Given the description of an element on the screen output the (x, y) to click on. 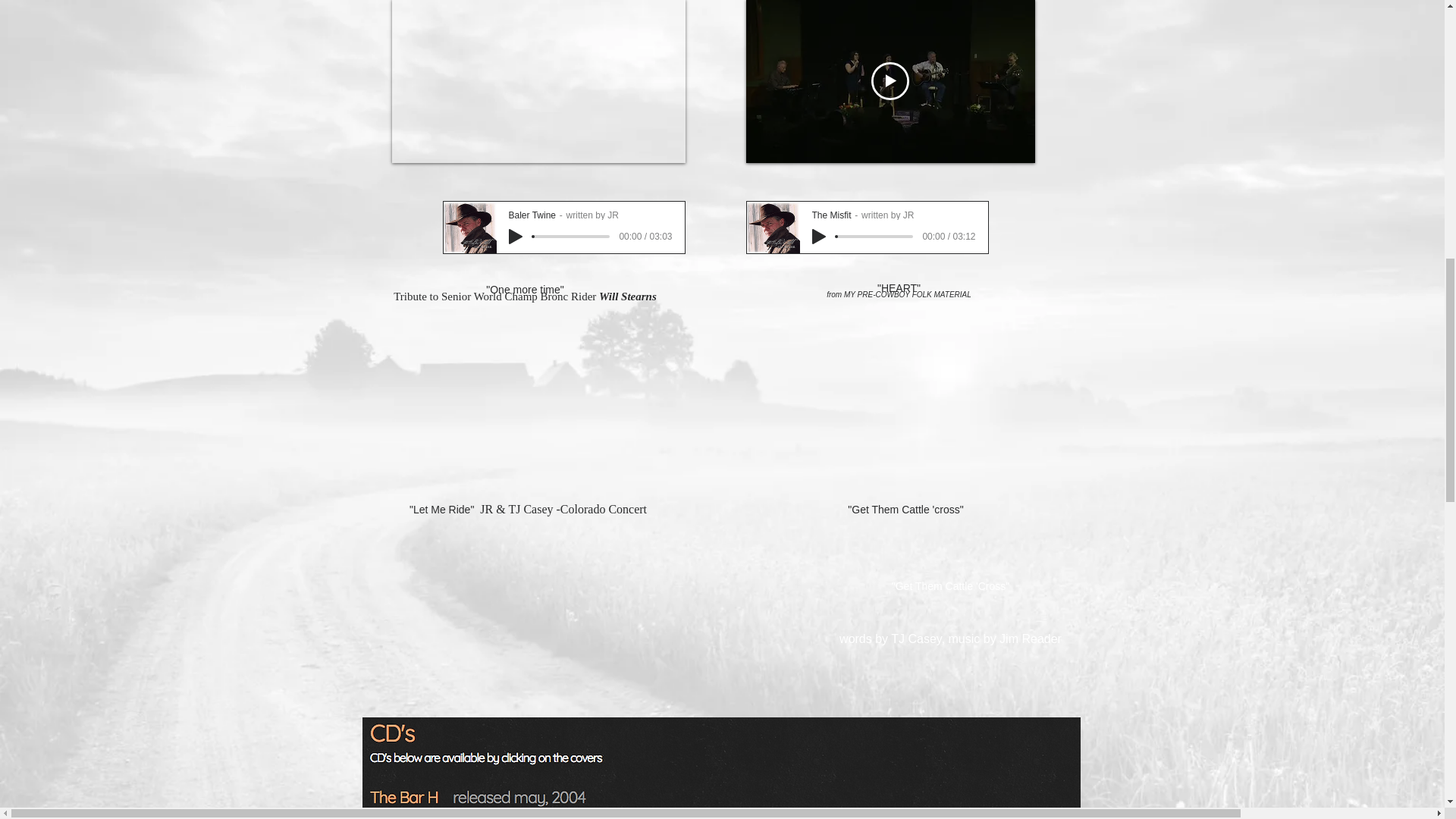
External YouTube (525, 399)
External YouTube (903, 399)
0 (873, 236)
External YouTube (903, 612)
External YouTube (528, 595)
0 (571, 236)
